Given the description of an element on the screen output the (x, y) to click on. 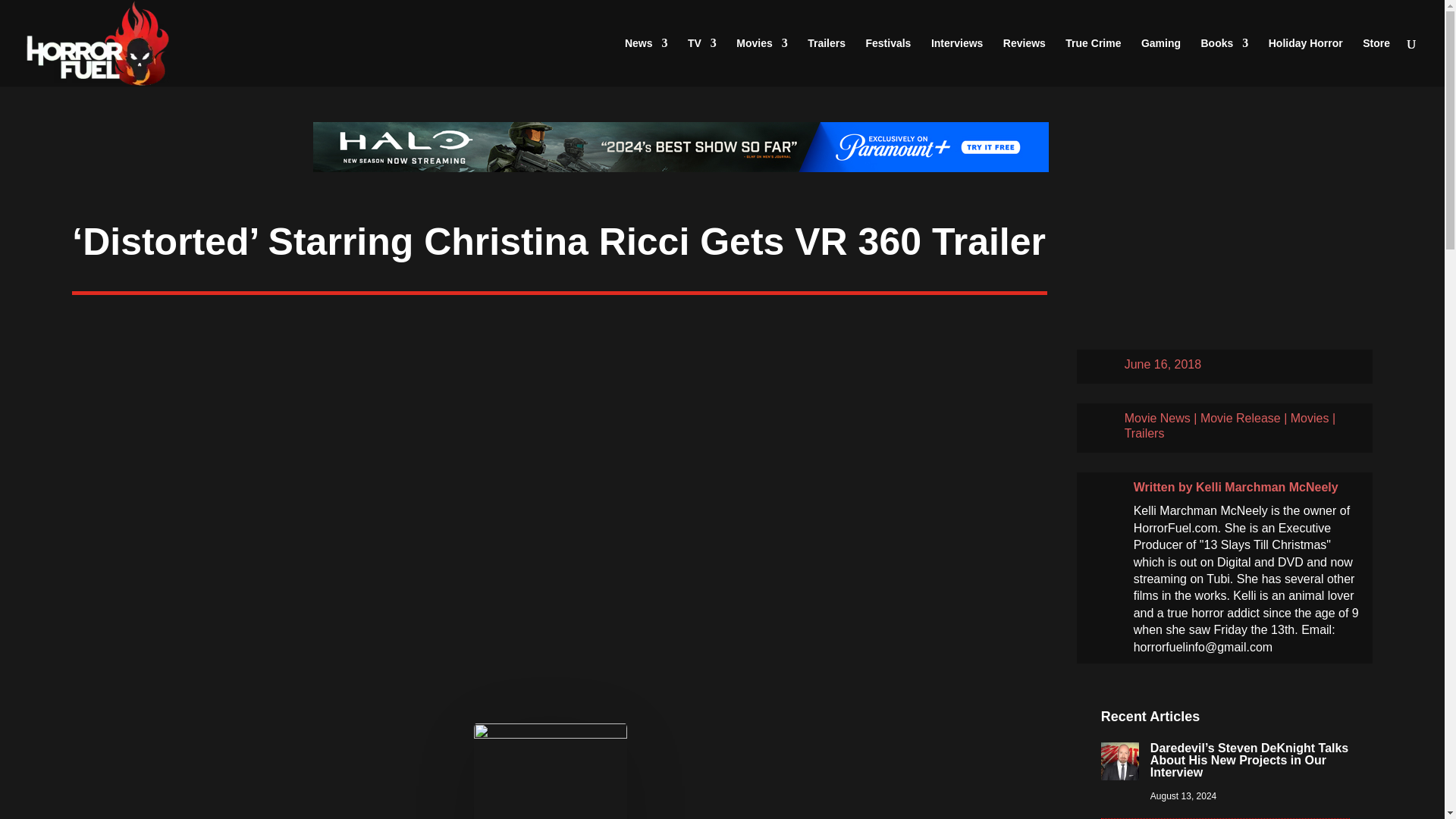
Festivals (887, 61)
Movies (761, 61)
News (646, 61)
